Given the description of an element on the screen output the (x, y) to click on. 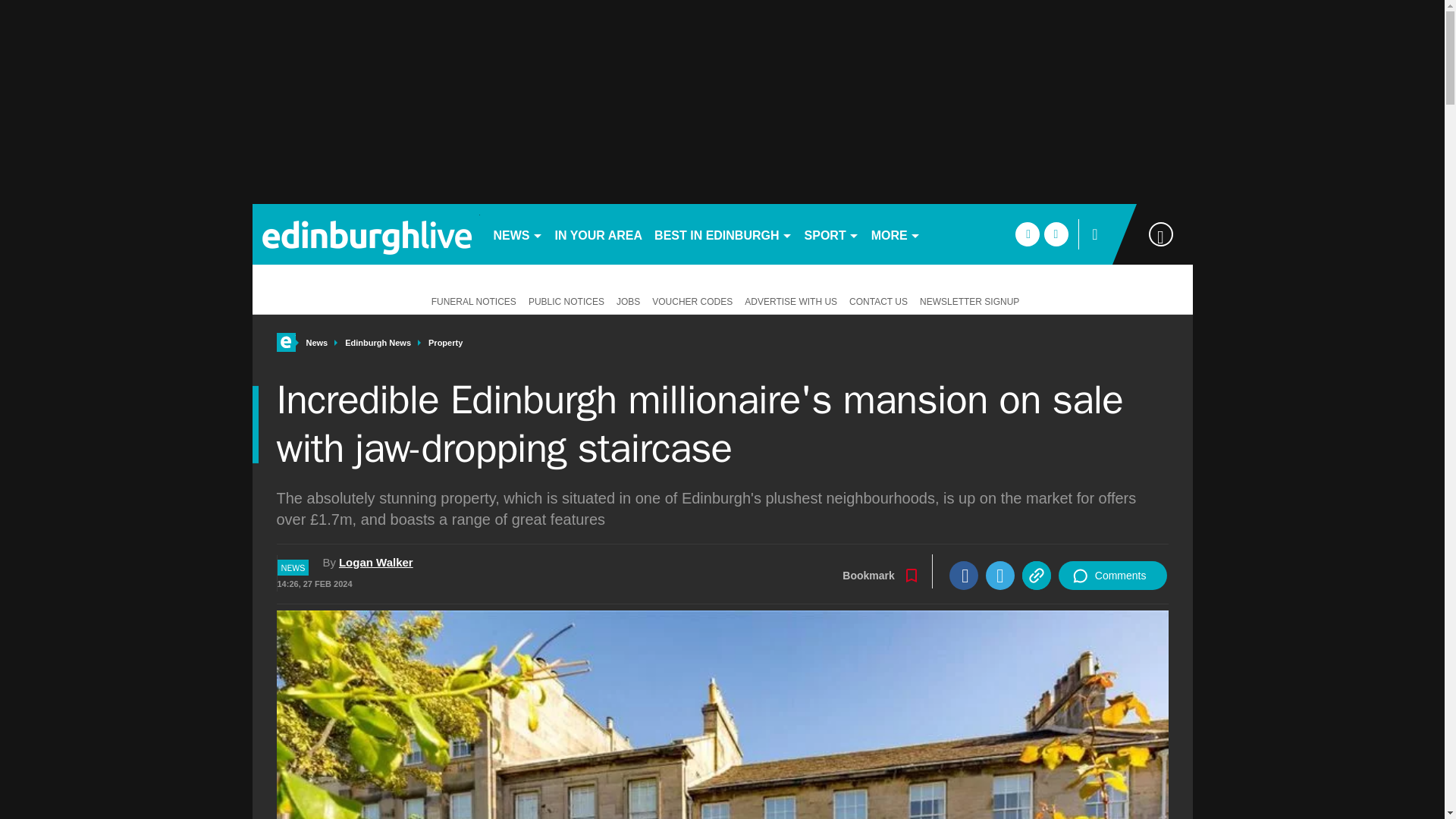
MORE (895, 233)
IN YOUR AREA (598, 233)
SPORT (830, 233)
facebook (1026, 233)
twitter (1055, 233)
edinburghlive (365, 233)
NEWS (517, 233)
BEST IN EDINBURGH (722, 233)
Comments (1112, 575)
Twitter (999, 575)
Facebook (963, 575)
